Given the description of an element on the screen output the (x, y) to click on. 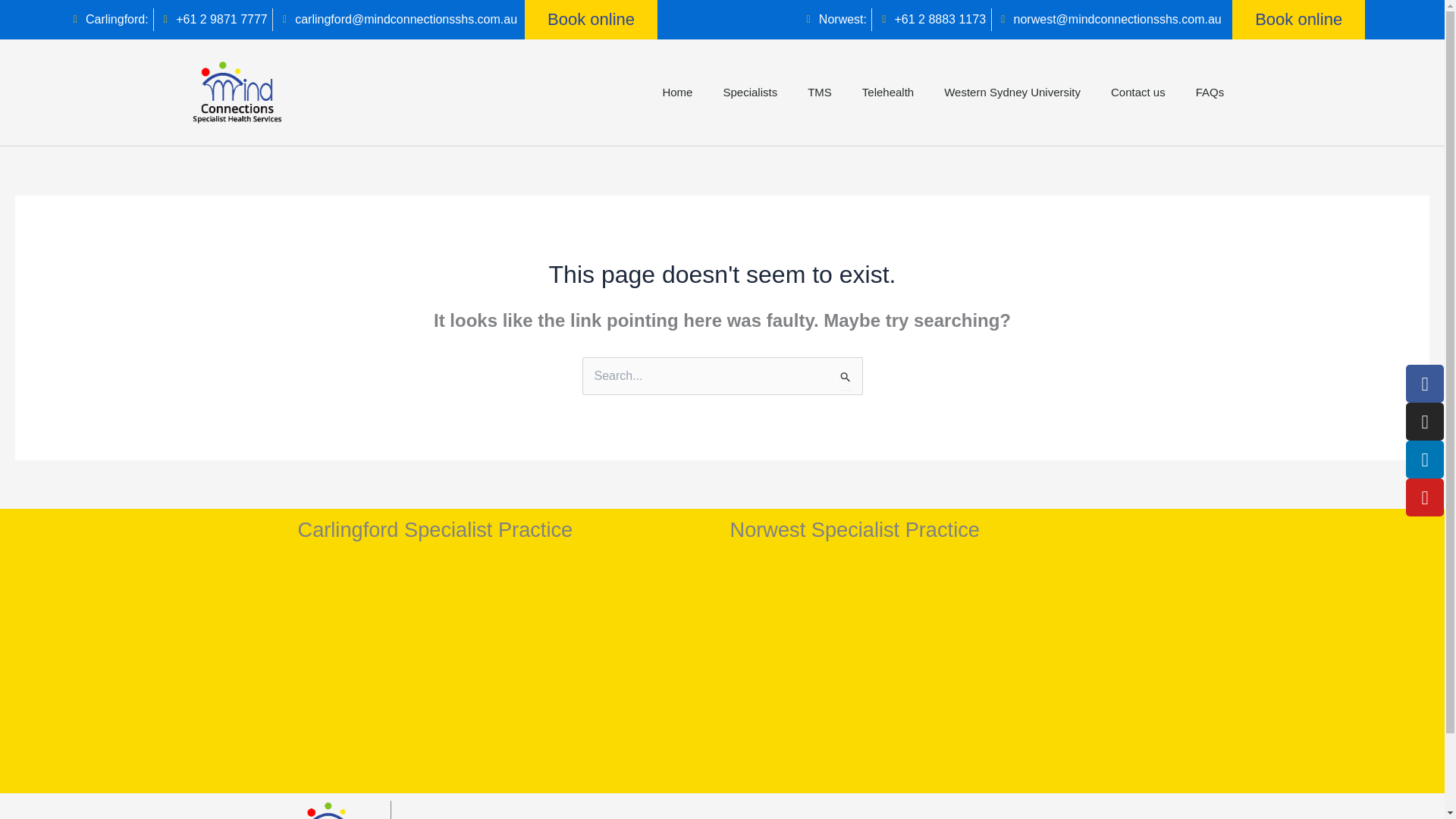
Western Sydney University (1012, 92)
Facebook (1425, 383)
752B Pennant Hills Road, Carlingford, Sydney NSW 2118 (505, 671)
Linkedin (1425, 459)
Privacy Policy (444, 816)
Instagram (1425, 421)
Book online (591, 19)
Book online (1298, 19)
Youtube (1425, 497)
